Given the description of an element on the screen output the (x, y) to click on. 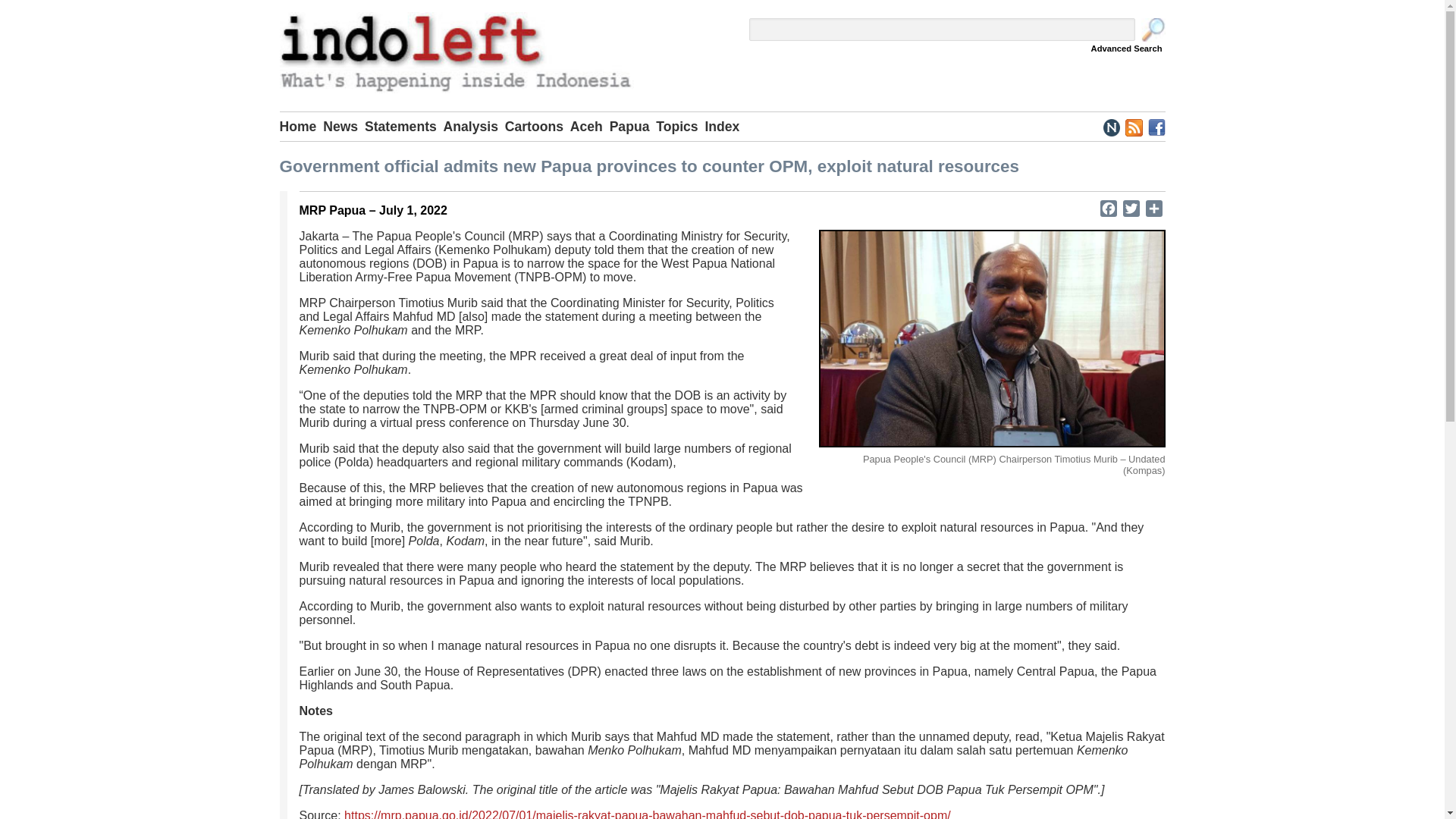
Index (724, 126)
Cartoons (537, 126)
Search (1152, 30)
Statements (404, 126)
Topics (680, 126)
Search (1152, 30)
Papua (633, 126)
Twitter (1130, 208)
RSS News Feeds (1133, 126)
Facebook (1107, 208)
Share (1152, 208)
Enter the terms you wish to search for. (942, 29)
Search this site (1152, 30)
Aceh (590, 126)
Indoleft News Service (1111, 126)
